Given the description of an element on the screen output the (x, y) to click on. 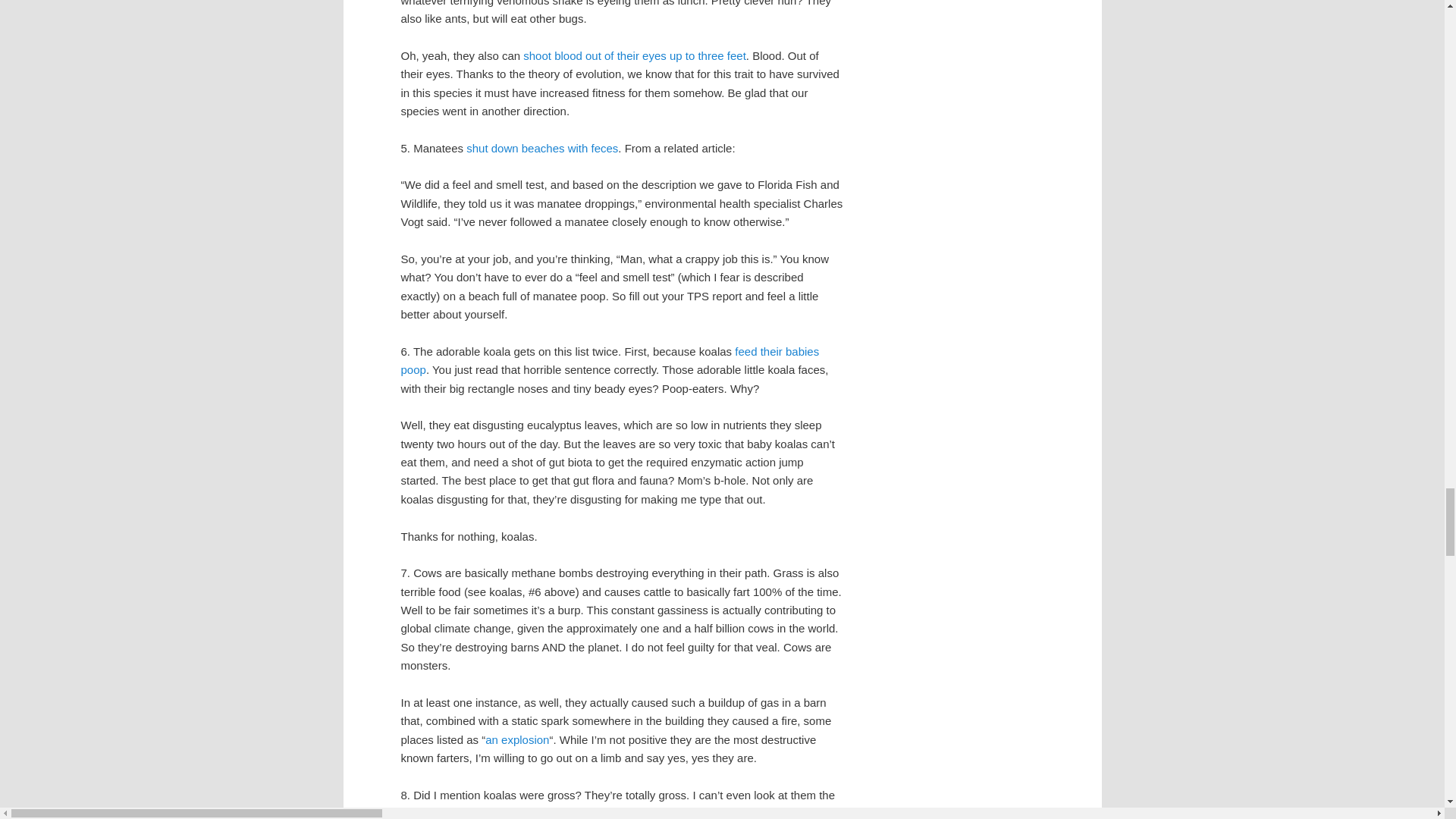
shut down beaches with feces (541, 147)
shoot blood out of their eyes up to three feet (633, 55)
